Given the description of an element on the screen output the (x, y) to click on. 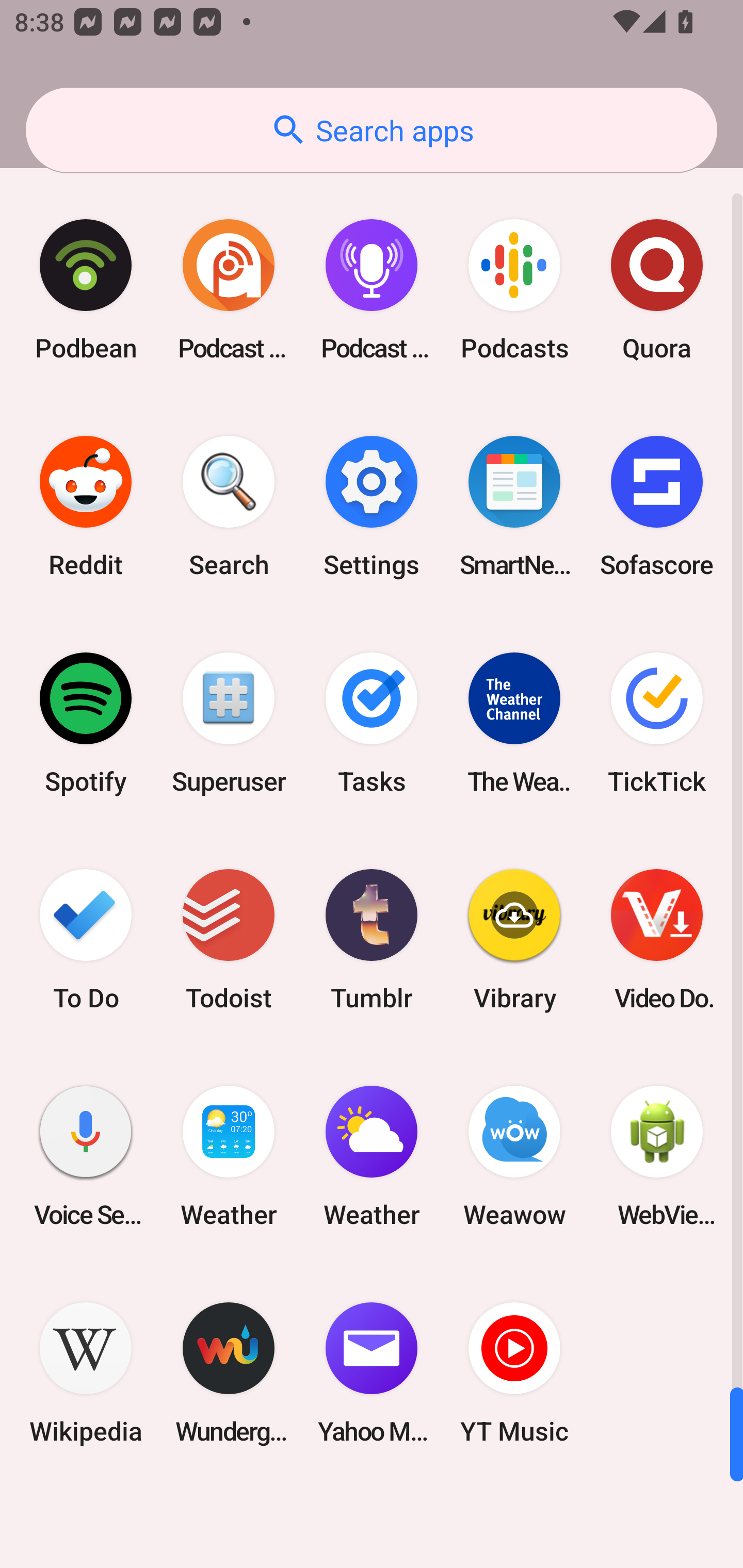
  Search apps (371, 130)
Podbean (85, 289)
Podcast Addict (228, 289)
Podcast Player (371, 289)
Podcasts (514, 289)
Quora (656, 289)
Reddit (85, 506)
Search (228, 506)
Settings (371, 506)
SmartNews (514, 506)
Sofascore (656, 506)
Spotify (85, 722)
Superuser (228, 722)
Tasks (371, 722)
The Weather Channel (514, 722)
TickTick (656, 722)
To Do (85, 939)
Todoist (228, 939)
Tumblr (371, 939)
Vibrary (514, 939)
Video Downloader & Ace Player (656, 939)
Voice Search (85, 1156)
Weather (228, 1156)
Weather (371, 1156)
Weawow (514, 1156)
WebView Browser Tester (656, 1156)
Wikipedia (85, 1373)
Wunderground (228, 1373)
Yahoo Mail (371, 1373)
YT Music (514, 1373)
